Given the description of an element on the screen output the (x, y) to click on. 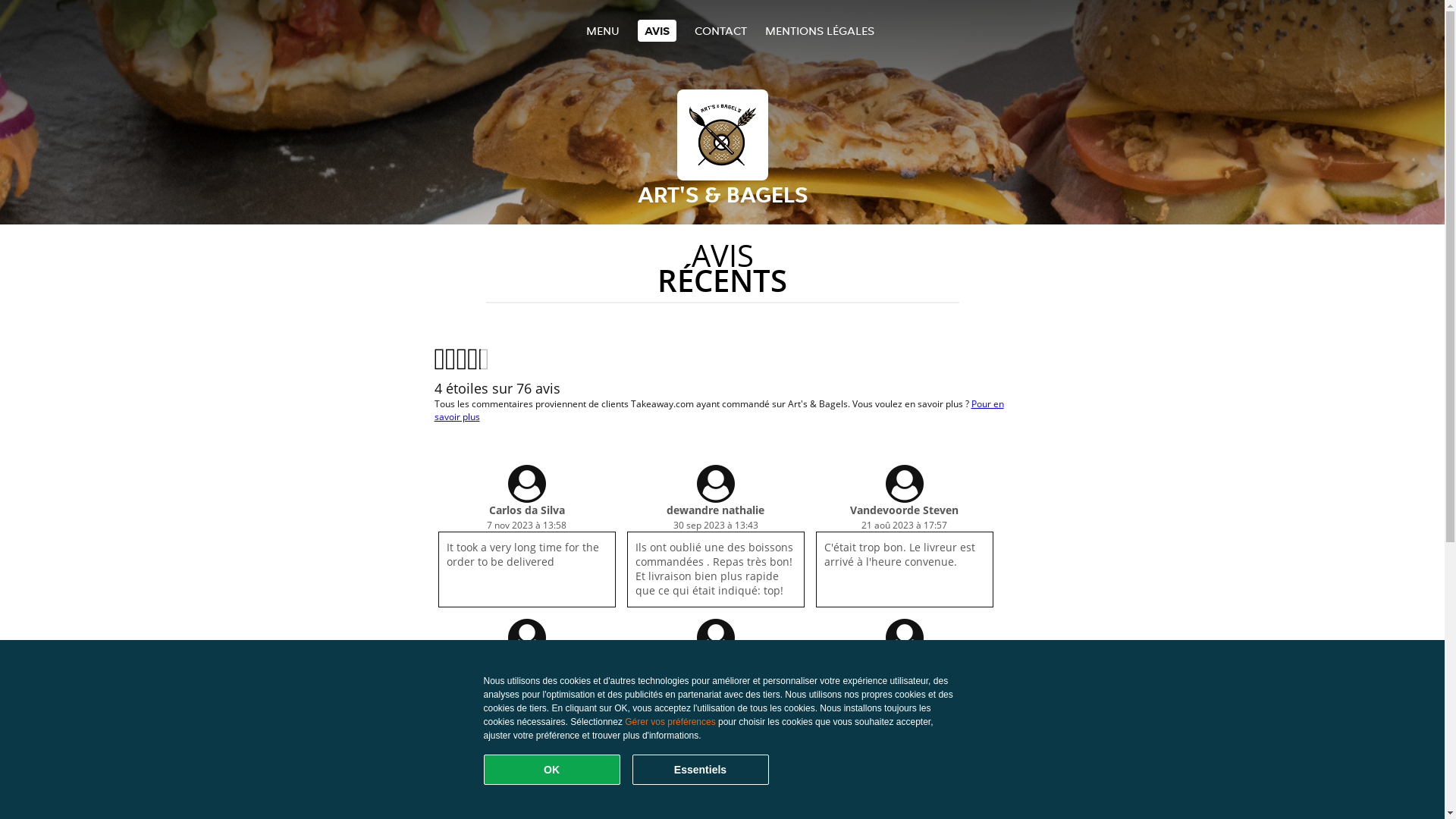
AVIS Element type: text (656, 30)
CONTACT Element type: text (720, 30)
Pour en savoir plus Element type: text (718, 410)
OK Element type: text (551, 769)
MENU Element type: text (601, 30)
Essentiels Element type: text (700, 769)
